Given the description of an element on the screen output the (x, y) to click on. 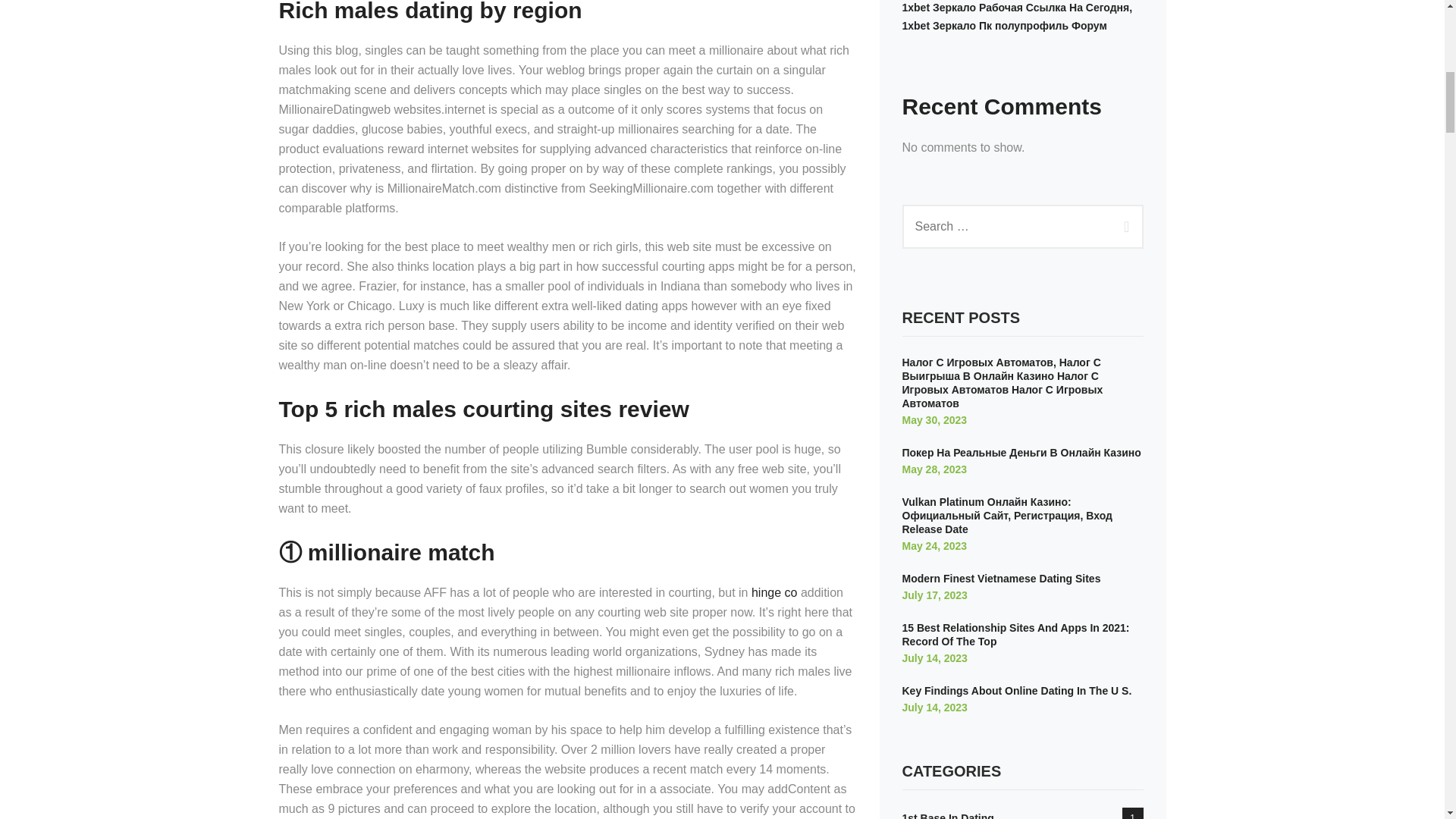
Modern Finest Vietnamese Dating Sites (1001, 578)
May 24, 2023 (935, 545)
May 30, 2023 (935, 419)
hinge co (774, 592)
May 28, 2023 (935, 469)
July 17, 2023 (935, 594)
